Given the description of an element on the screen output the (x, y) to click on. 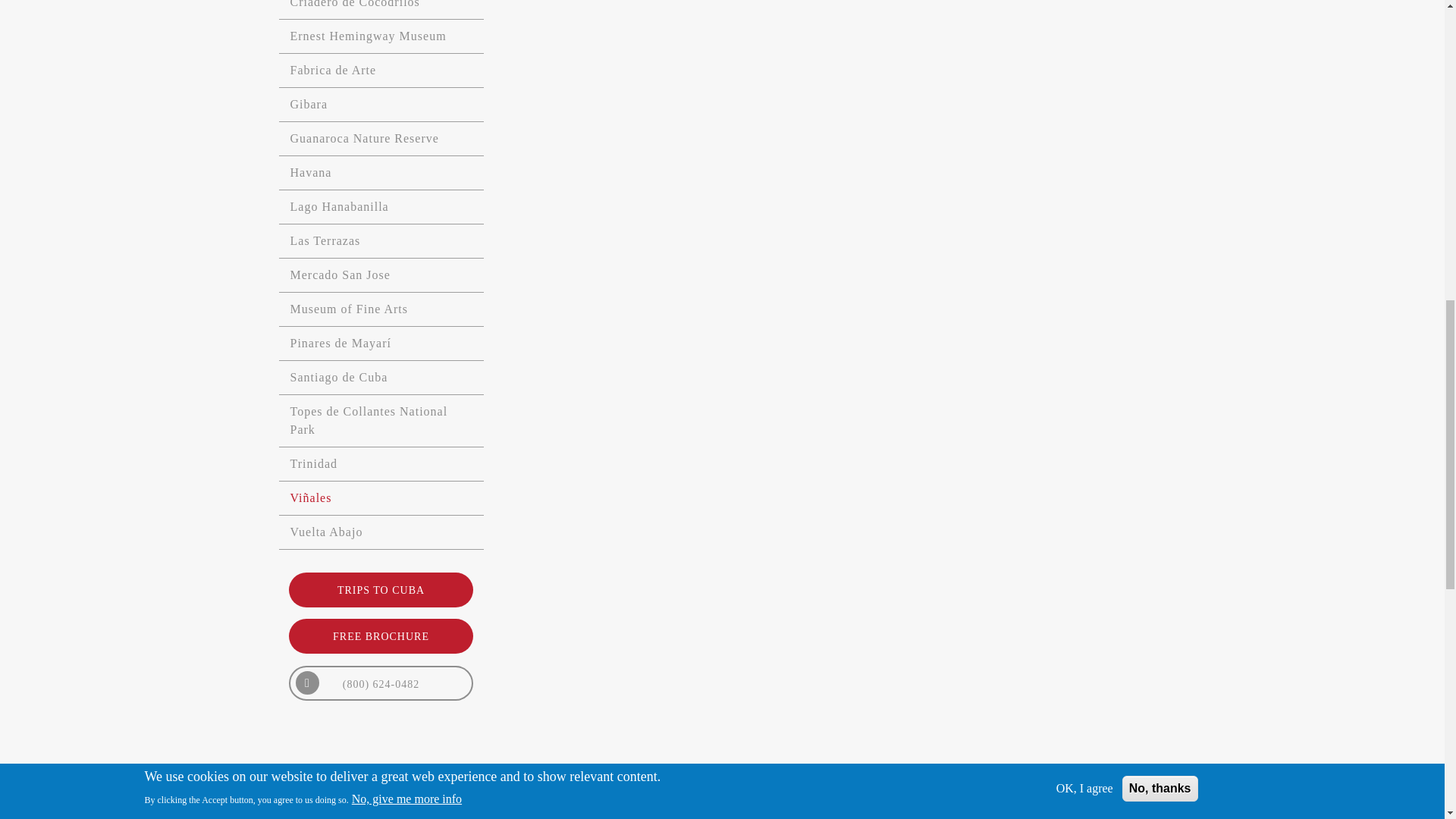
Fabrica de Arte (381, 70)
Guanaroca Nature Reserve (381, 139)
Ernest Hemingway Museum (381, 36)
Gibara (381, 104)
